Given the description of an element on the screen output the (x, y) to click on. 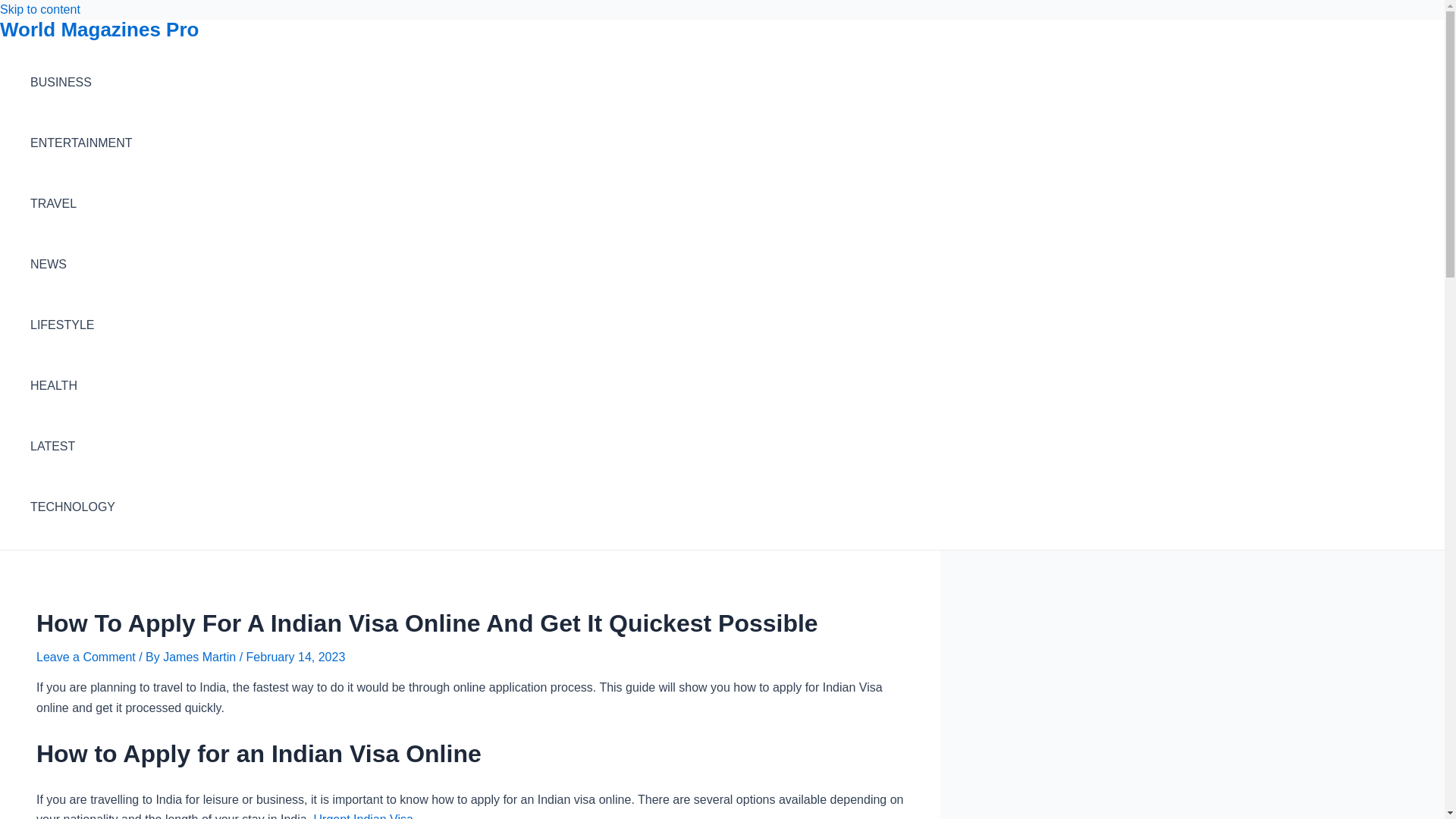
ENTERTAINMENT (81, 143)
World Magazines Pro (99, 29)
Urgent Indian Visa (363, 816)
TECHNOLOGY (81, 506)
NEWS (81, 264)
View all posts by James Martin (200, 656)
HEALTH (81, 385)
TRAVEL (81, 203)
Leave a Comment (85, 656)
LATEST (81, 446)
